Given the description of an element on the screen output the (x, y) to click on. 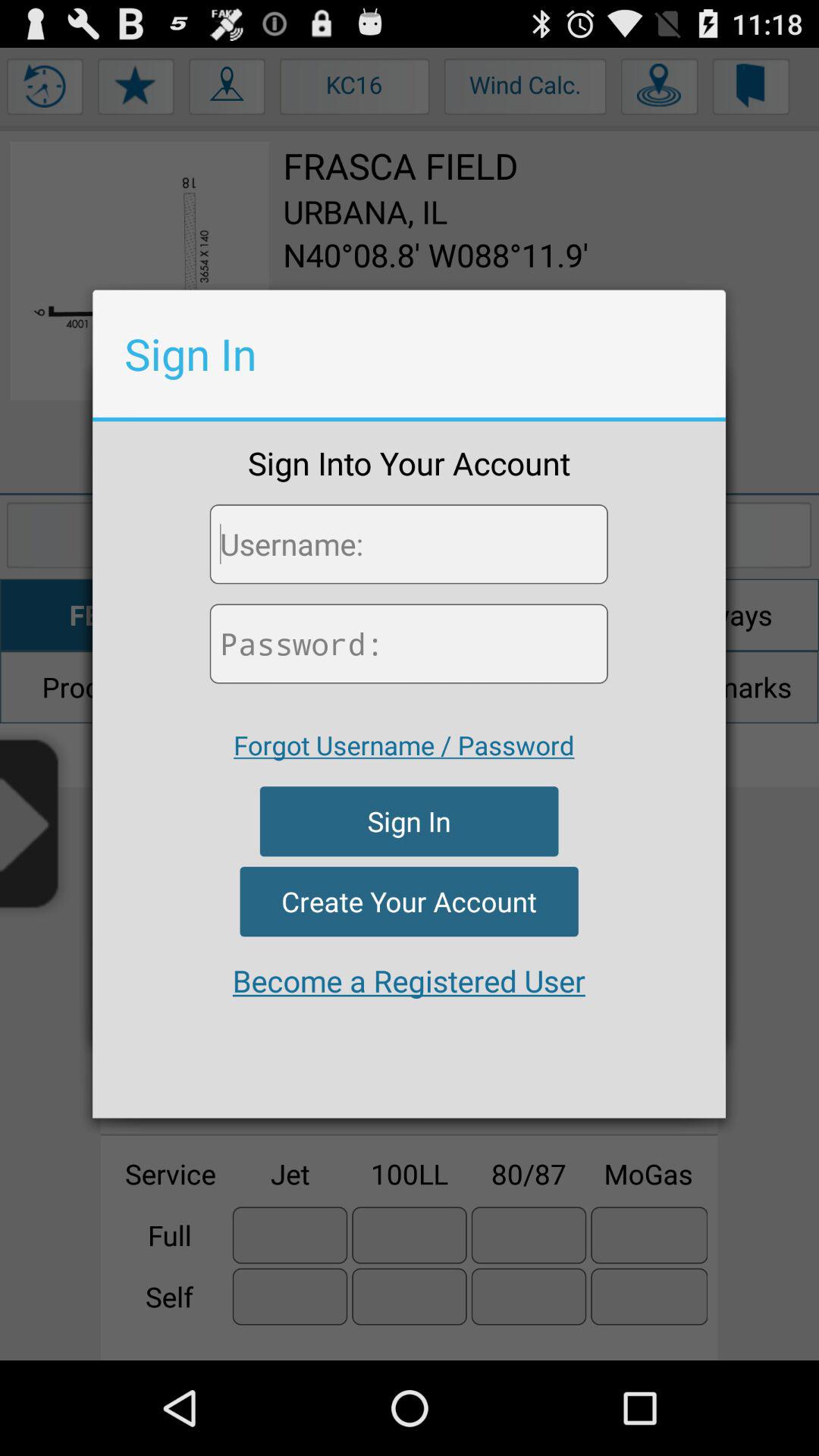
click the forgot username / password app (403, 744)
